Given the description of an element on the screen output the (x, y) to click on. 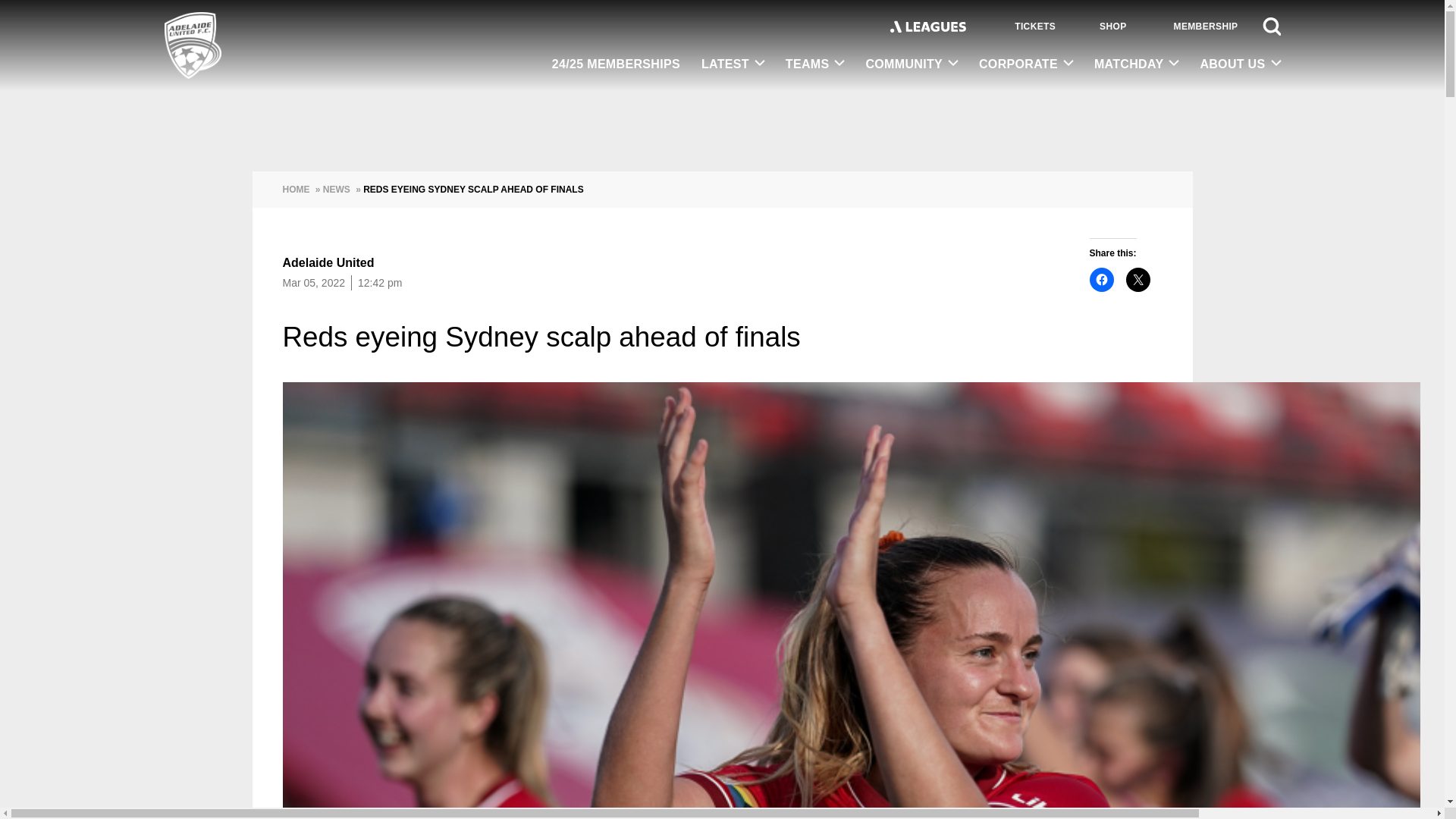
Click to share on Facebook (1101, 279)
COMMUNITY (911, 64)
CORPORATE (1025, 64)
TEAMS (815, 64)
Click to share on X (1137, 279)
LATEST (732, 64)
